Given the description of an element on the screen output the (x, y) to click on. 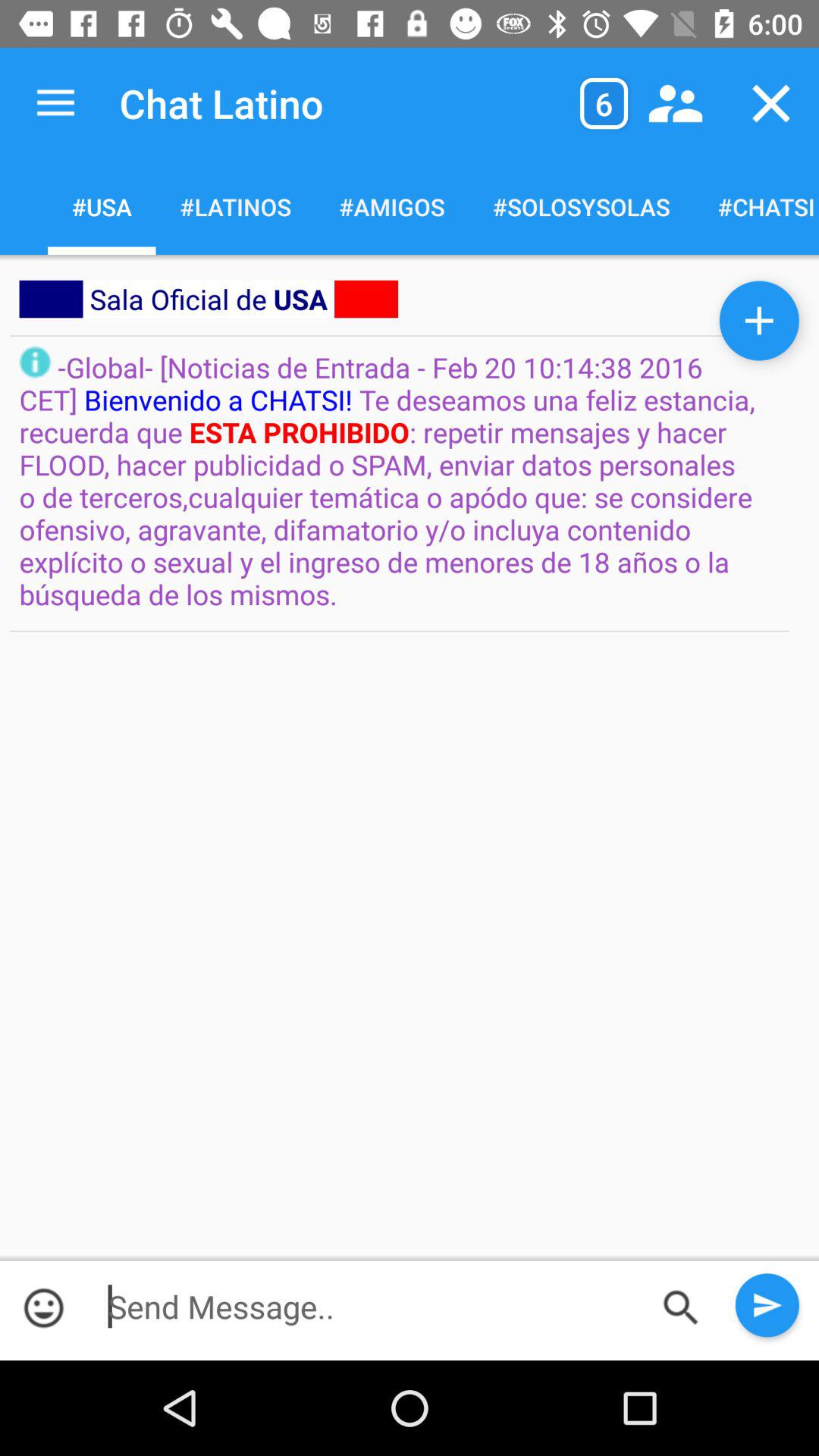
turn off the icon next to chat latino (603, 103)
